Given the description of an element on the screen output the (x, y) to click on. 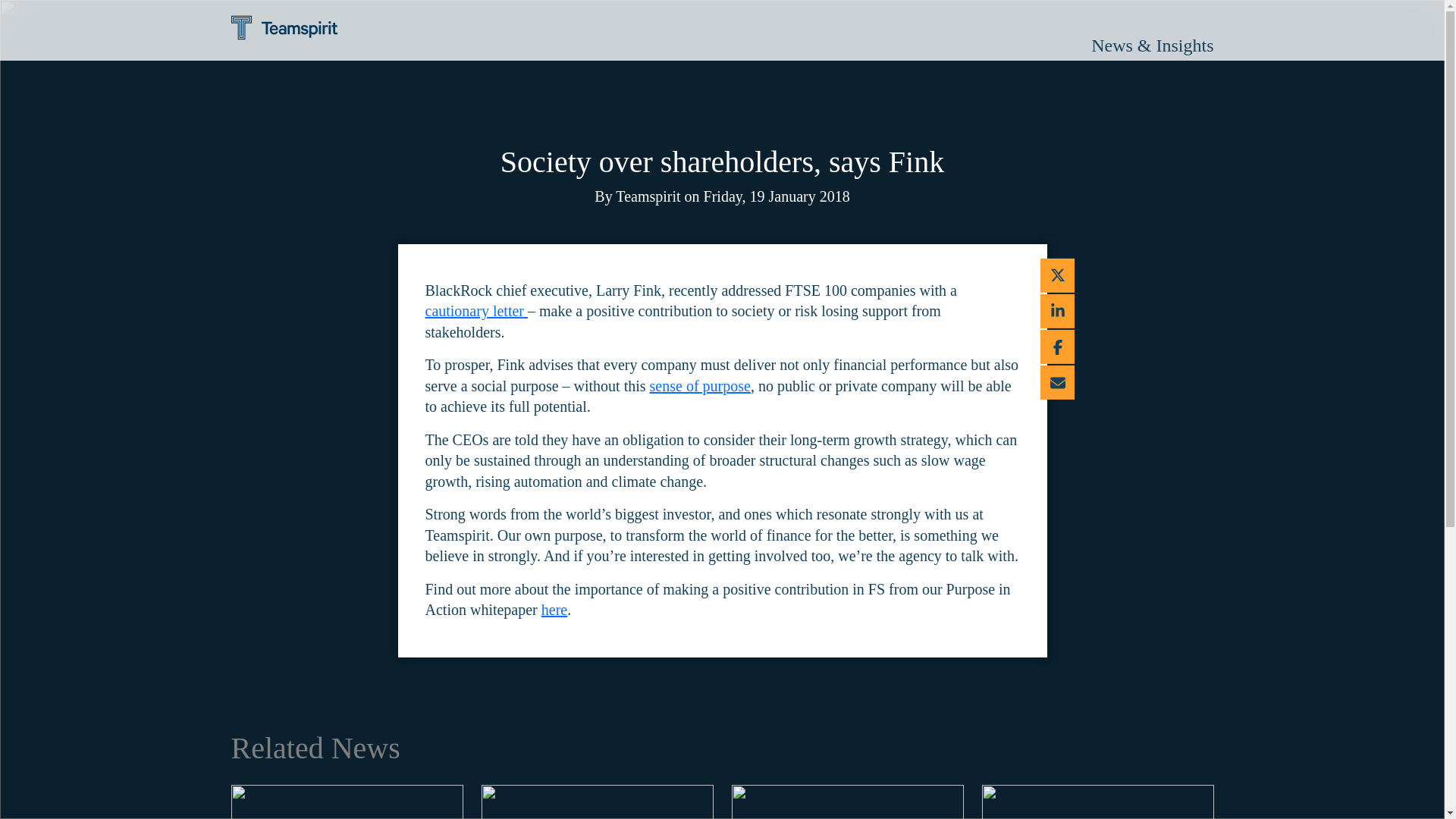
here (554, 609)
sense of purpose (700, 385)
cautionary letter (476, 310)
